Given the description of an element on the screen output the (x, y) to click on. 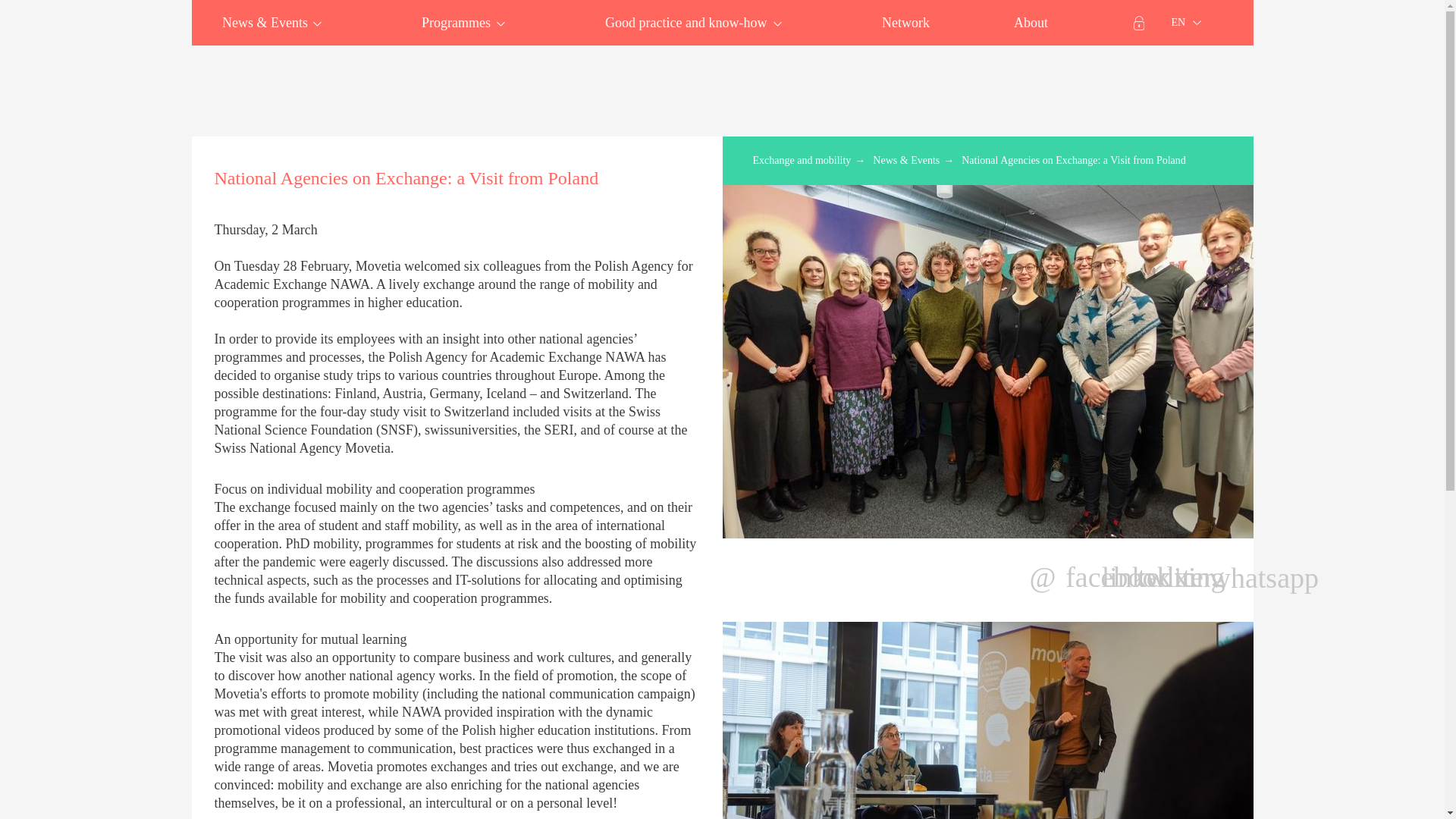
Exchange and mobility (125, 84)
Programmes (459, 22)
